Given the description of an element on the screen output the (x, y) to click on. 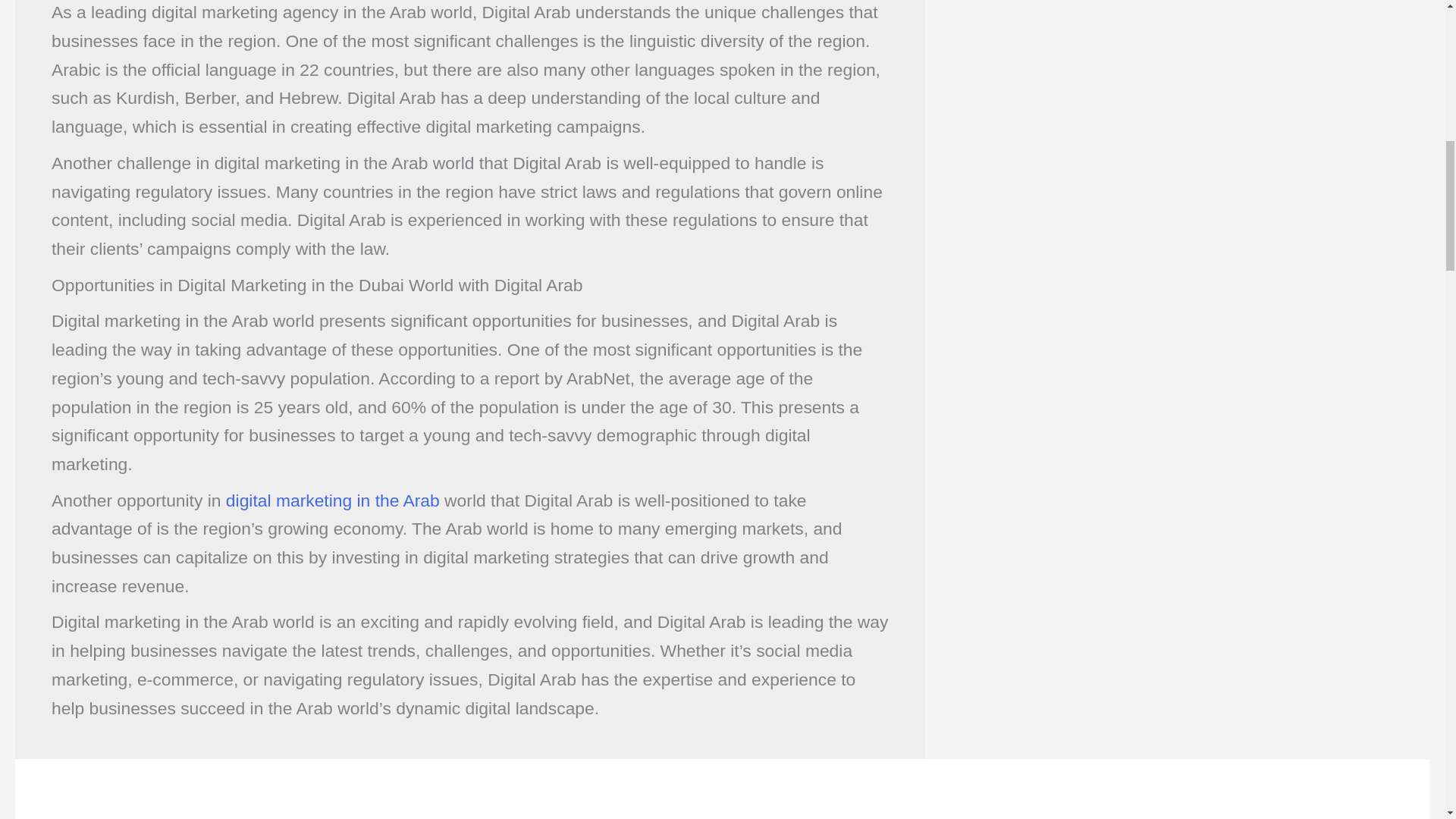
digital marketing in the Arab (332, 500)
